Given the description of an element on the screen output the (x, y) to click on. 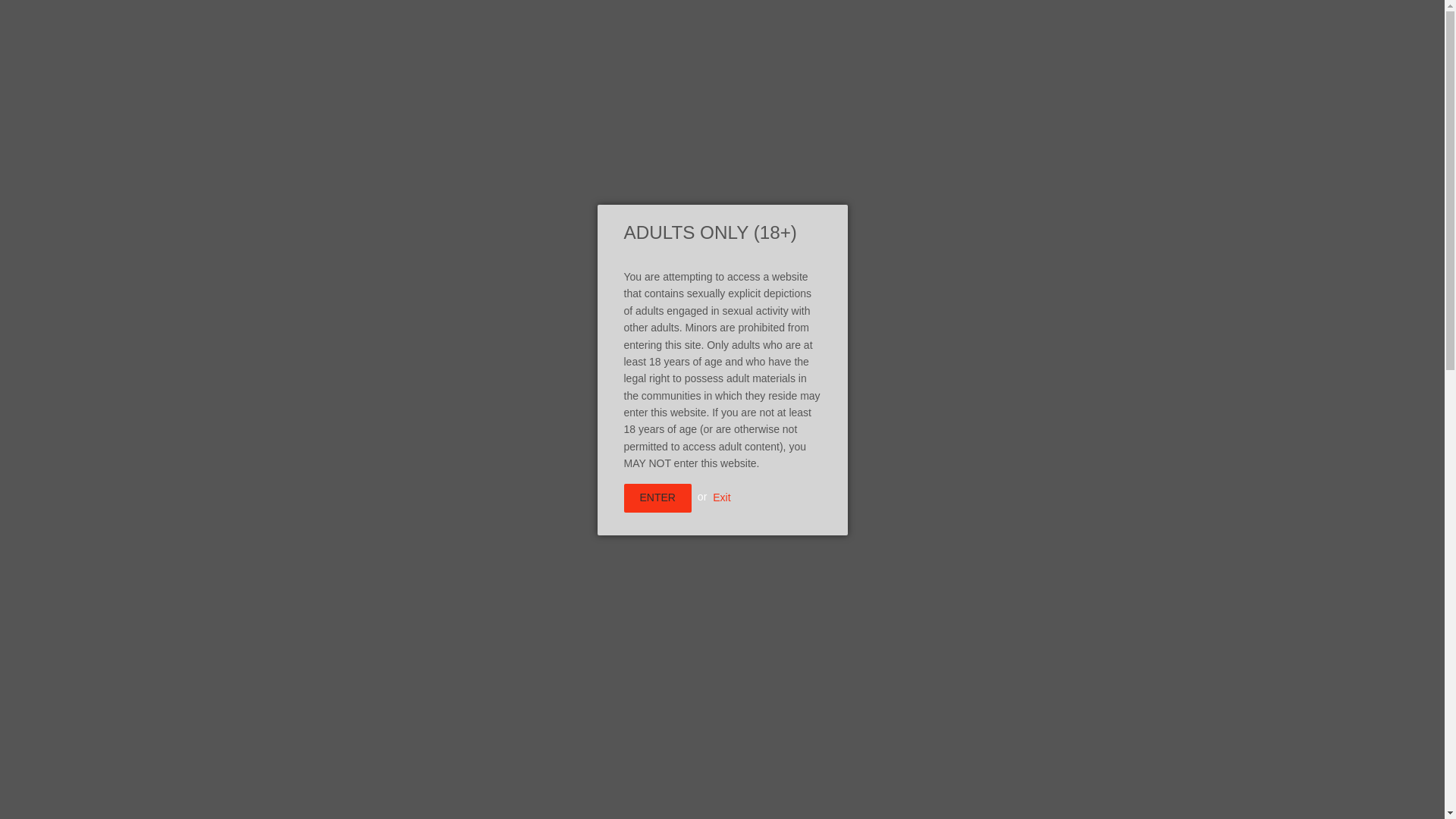
CATALOG (441, 185)
ADD TO CART (707, 426)
CART (1072, 81)
ENTER (656, 498)
HOME (363, 185)
Search (1010, 82)
Exit (721, 496)
Shipping (676, 378)
